Given the description of an element on the screen output the (x, y) to click on. 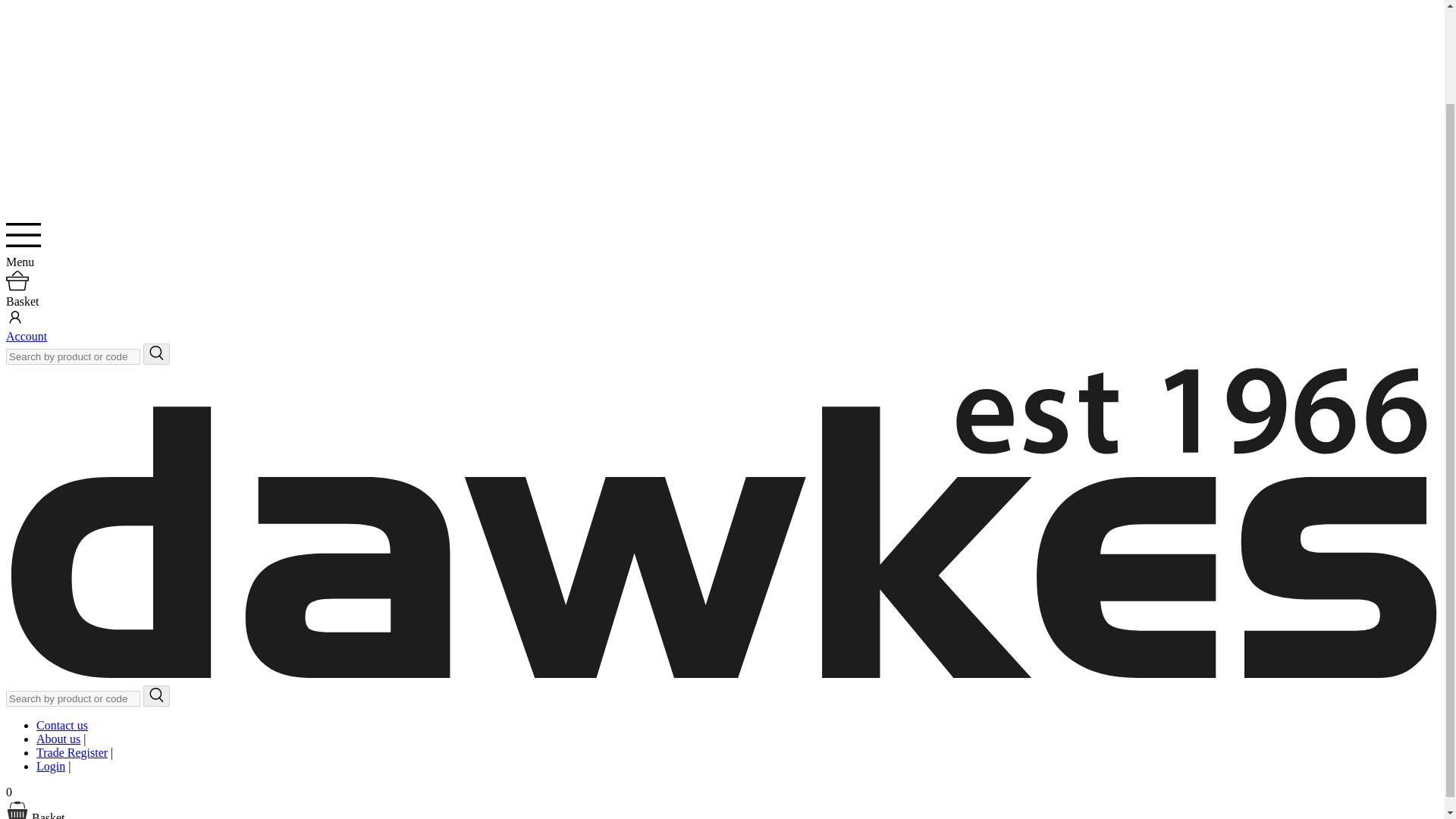
Contact us (61, 725)
Account (25, 336)
About us (58, 738)
Trade Register (71, 752)
Login (50, 766)
